Given the description of an element on the screen output the (x, y) to click on. 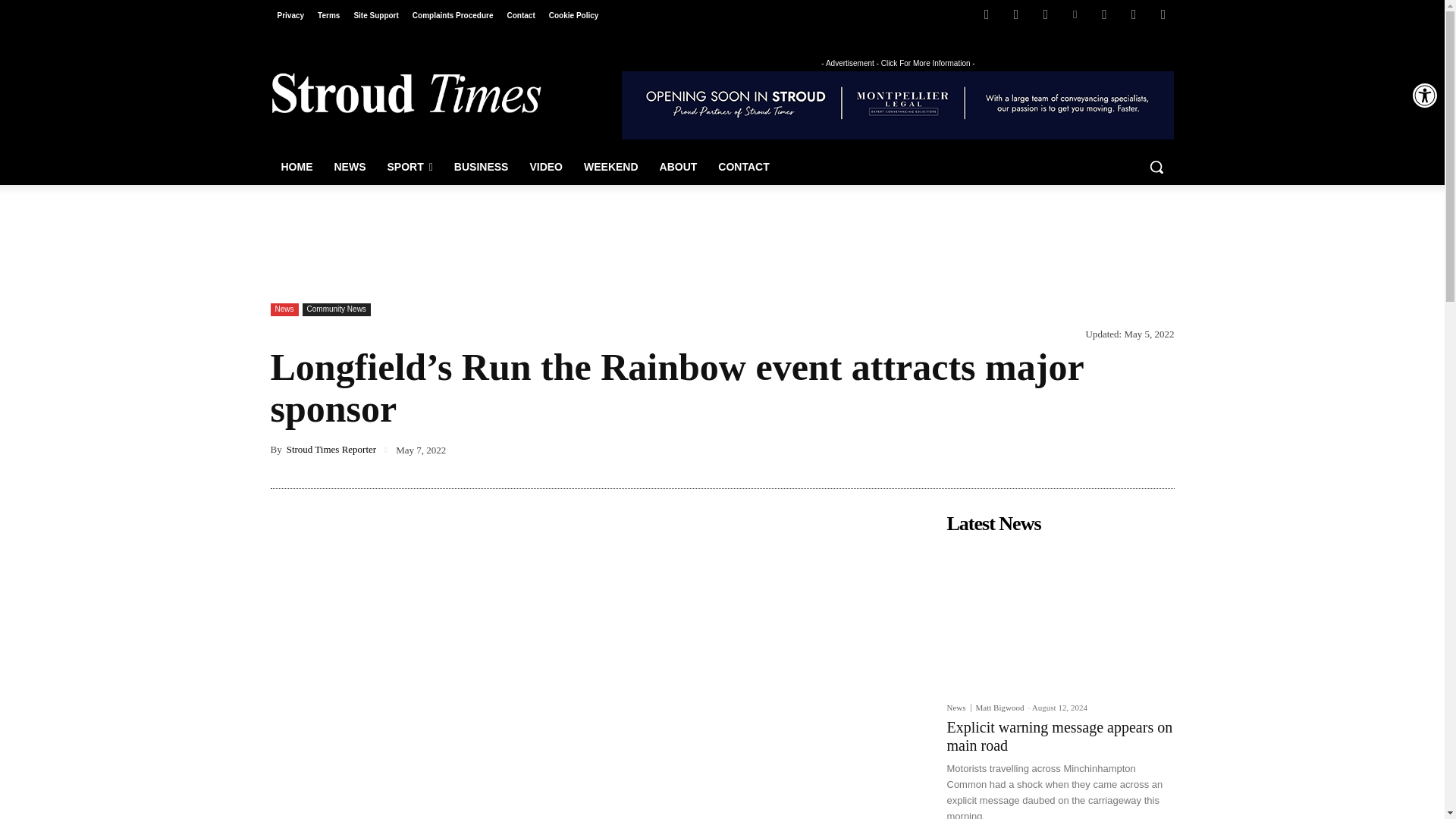
Terms (328, 15)
Facebook (986, 14)
Flipboard (1016, 14)
Accessibility Tools (1424, 95)
Privacy (290, 15)
